Given the description of an element on the screen output the (x, y) to click on. 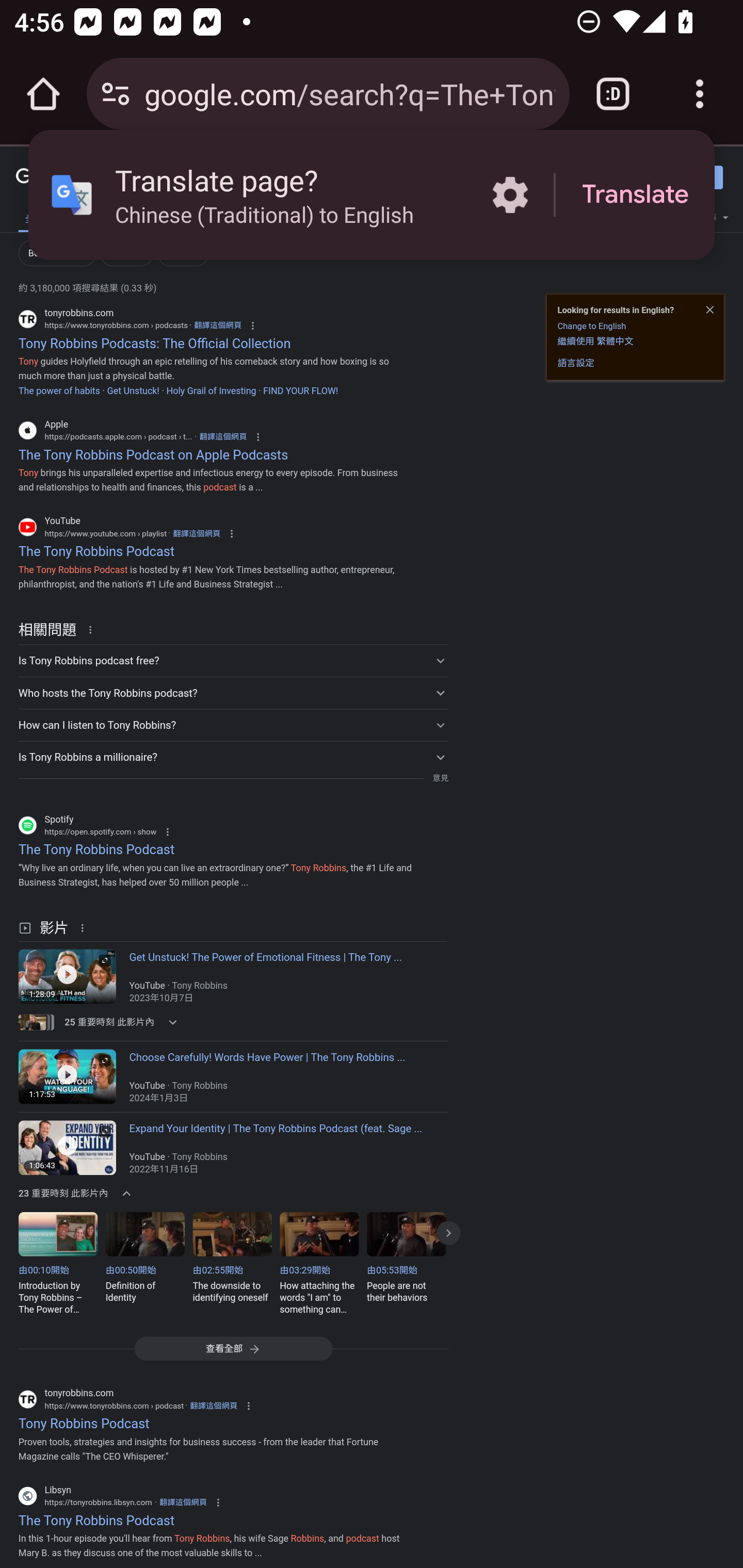
Open the home page (43, 93)
Connection is secure (115, 93)
Switch or close tabs (612, 93)
Customize and control Google Chrome (699, 93)
Translate (634, 195)
More options in the Translate page? (509, 195)
翻譯這個網頁 (217, 325)
Change to English (591, 325)
繼續使用 繁體中文 繼續使用  繁體中文 (595, 339)
語言設定 (576, 362)
The power of habits (58, 390)
Get Unstuck! (132, 390)
Holy Grail of Investing (211, 390)
FIND YOUR FLOW! (300, 390)
翻譯這個網頁 (223, 436)
翻譯這個網頁 (196, 532)
關於此結果 (93, 629)
Is Tony Robbins podcast free? (232, 660)
Who hosts the Tony Robbins podcast? (232, 691)
How can I listen to Tony Robbins? (232, 724)
Is Tony Robbins a millionaire? (232, 756)
意見 (439, 778)
關於此結果 (85, 927)
25 重要時刻  此影片內 (123, 1022)
23 重要時刻  此影片內 (123, 1193)
Definition of Identity。第 2 項，共 23 項，50 秒。  (148, 1263)
查看全部 (233, 1348)
翻譯這個網頁 (213, 1406)
翻譯這個網頁 (182, 1501)
